Given the description of an element on the screen output the (x, y) to click on. 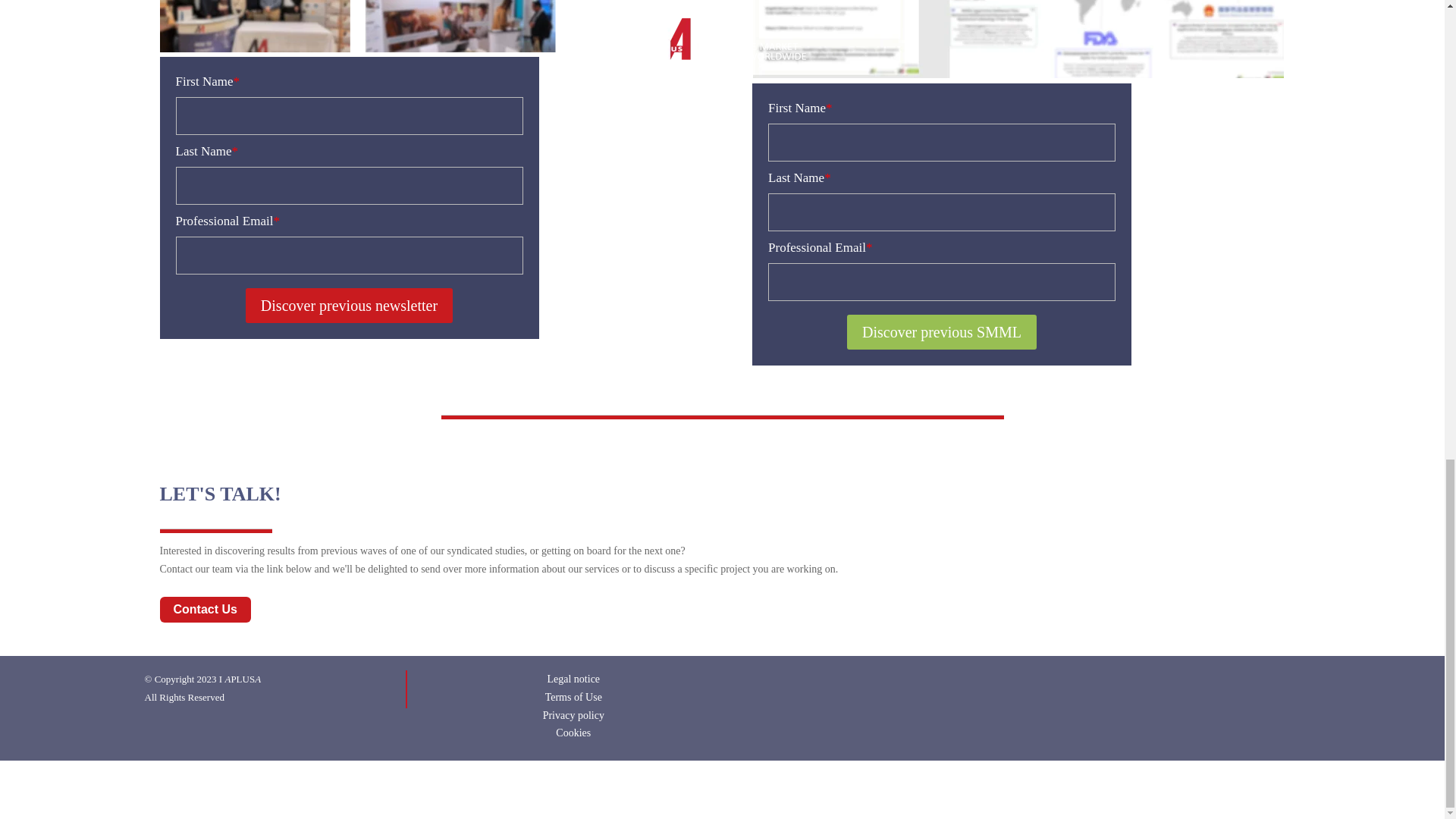
Discover previous SMML (941, 331)
Terms of Use (573, 696)
Discover previous SMML (941, 331)
Legal notice (573, 678)
Contact Us (204, 609)
Privacy policy (573, 715)
Contact Us (204, 609)
Discover previous newsletter (349, 305)
Discover previous newsletter (349, 305)
Cookies (573, 732)
